Given the description of an element on the screen output the (x, y) to click on. 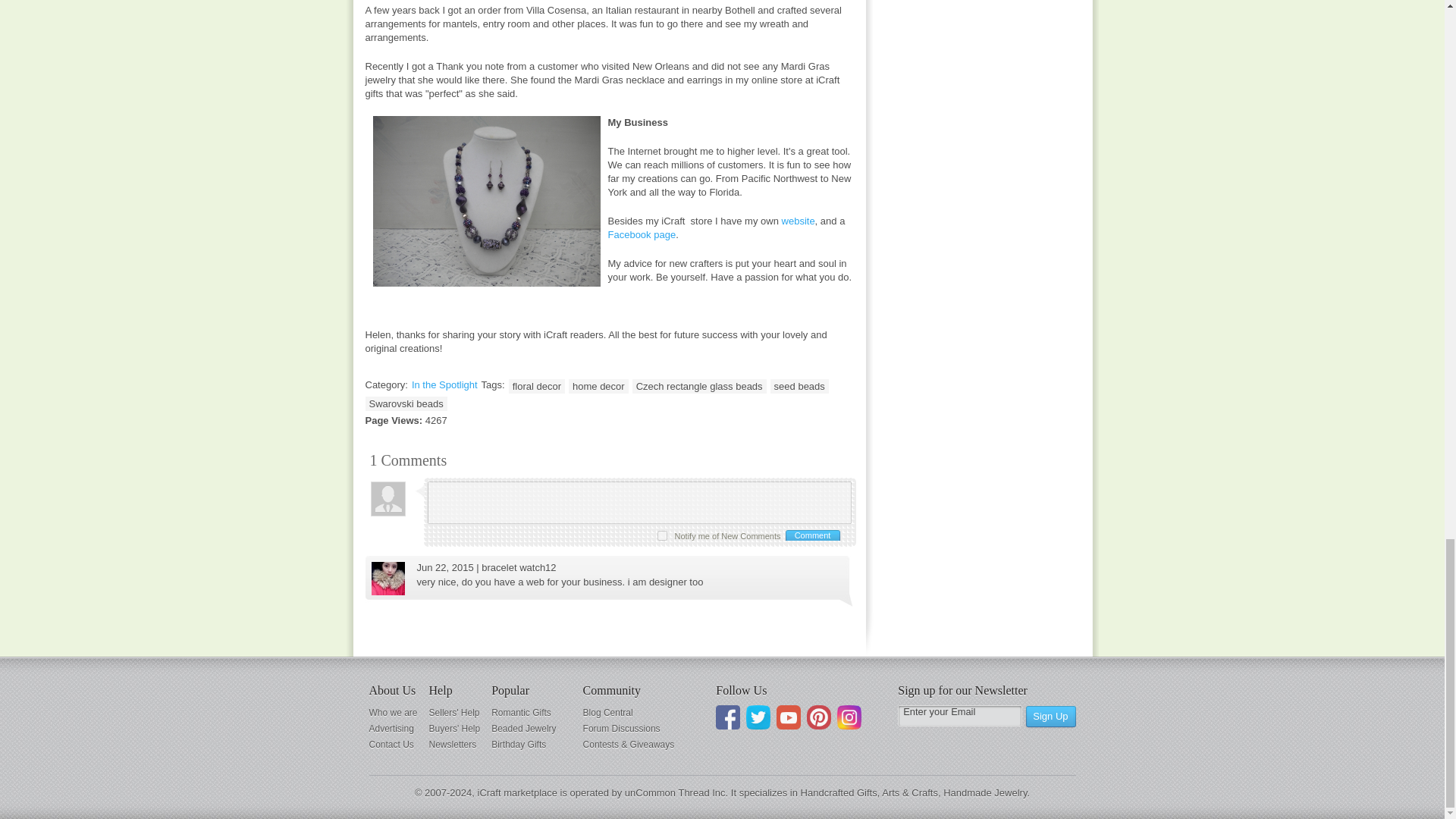
Yes (662, 534)
Comment (812, 534)
